Given the description of an element on the screen output the (x, y) to click on. 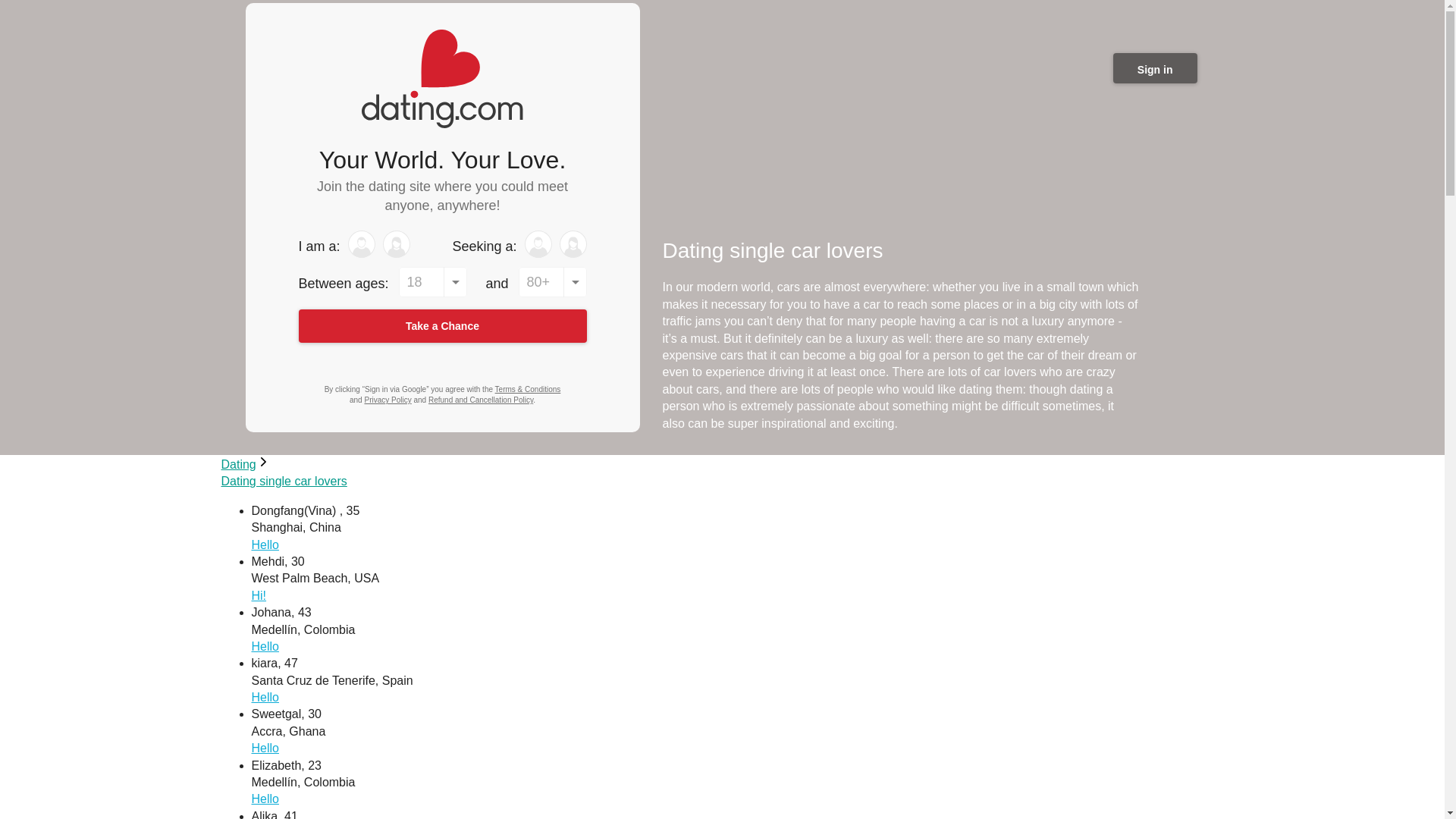
Woman (572, 243)
Privacy Policy (387, 399)
Woman (396, 243)
Hi! (258, 594)
Sign in (1154, 68)
Refund and Cancellation Policy (480, 399)
Man (361, 243)
Hello (265, 544)
Dating single car lovers (284, 481)
Take a Chance (442, 326)
